Given the description of an element on the screen output the (x, y) to click on. 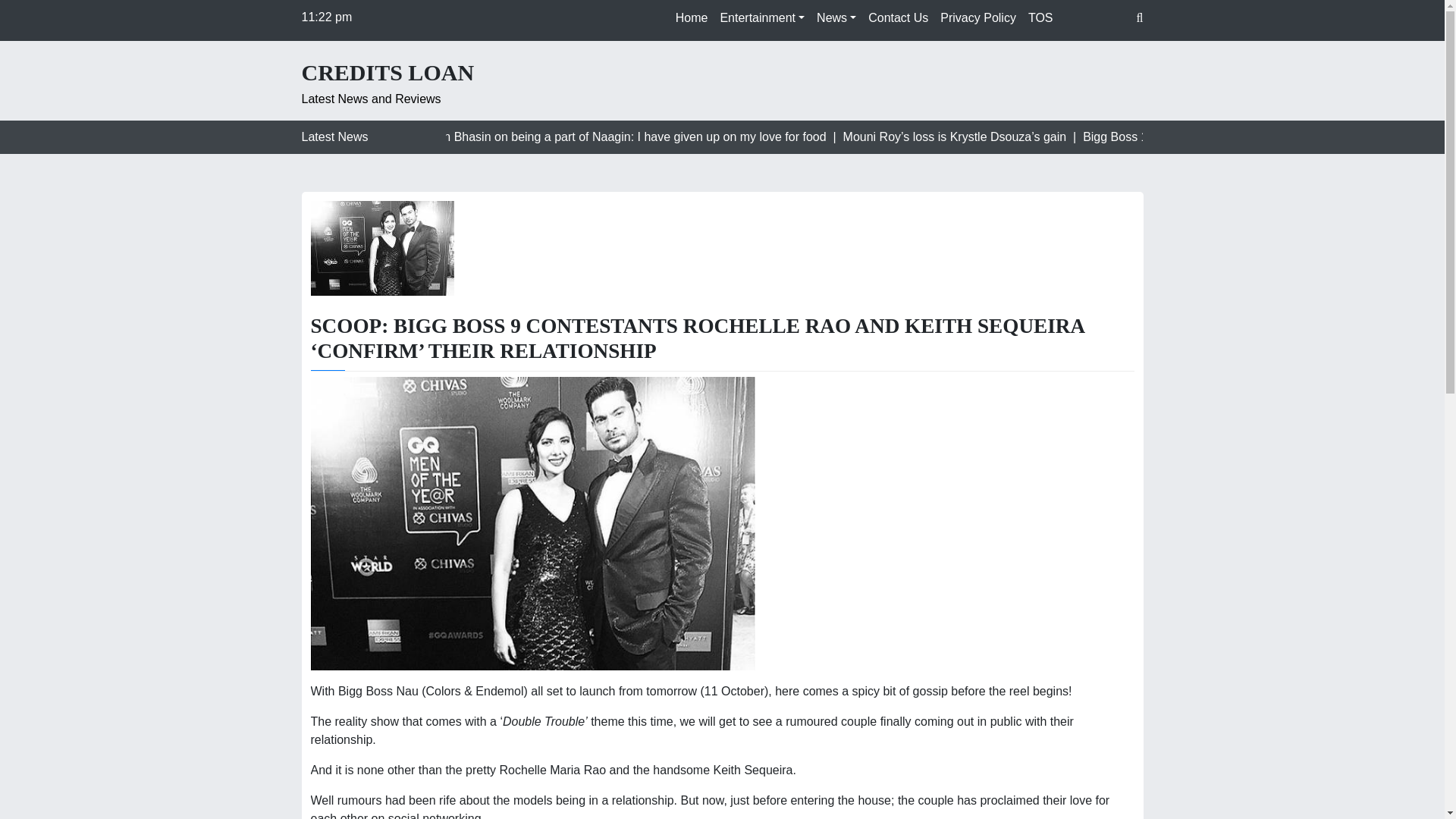
CREDITS LOAN (387, 72)
News (835, 18)
Entertainment (761, 18)
Home (691, 18)
Search (24, 13)
Privacy Policy (978, 18)
Contact Us (897, 18)
TOS (1040, 18)
